Given the description of an element on the screen output the (x, y) to click on. 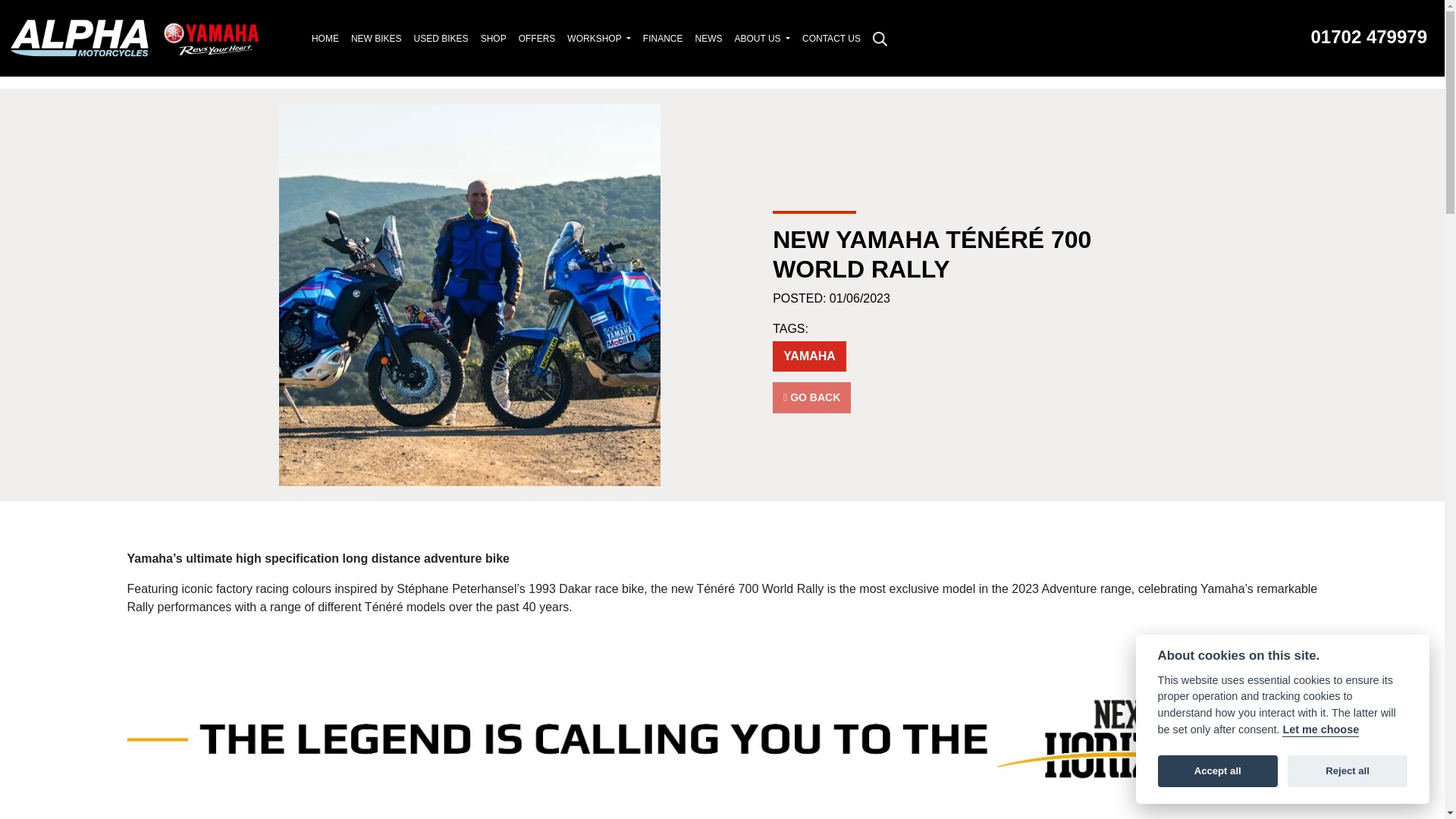
YAMAHA (809, 356)
Go Back (811, 397)
HOME (325, 38)
OFFERS (537, 38)
Shop (493, 38)
ABOUT US (762, 38)
GO BACK (811, 397)
New Bikes (376, 38)
CONTACT US (831, 38)
Finance (662, 38)
USED BIKES (440, 38)
Let me choose (1320, 730)
Accept all (1217, 771)
SHOP (493, 38)
Home (325, 38)
